Given the description of an element on the screen output the (x, y) to click on. 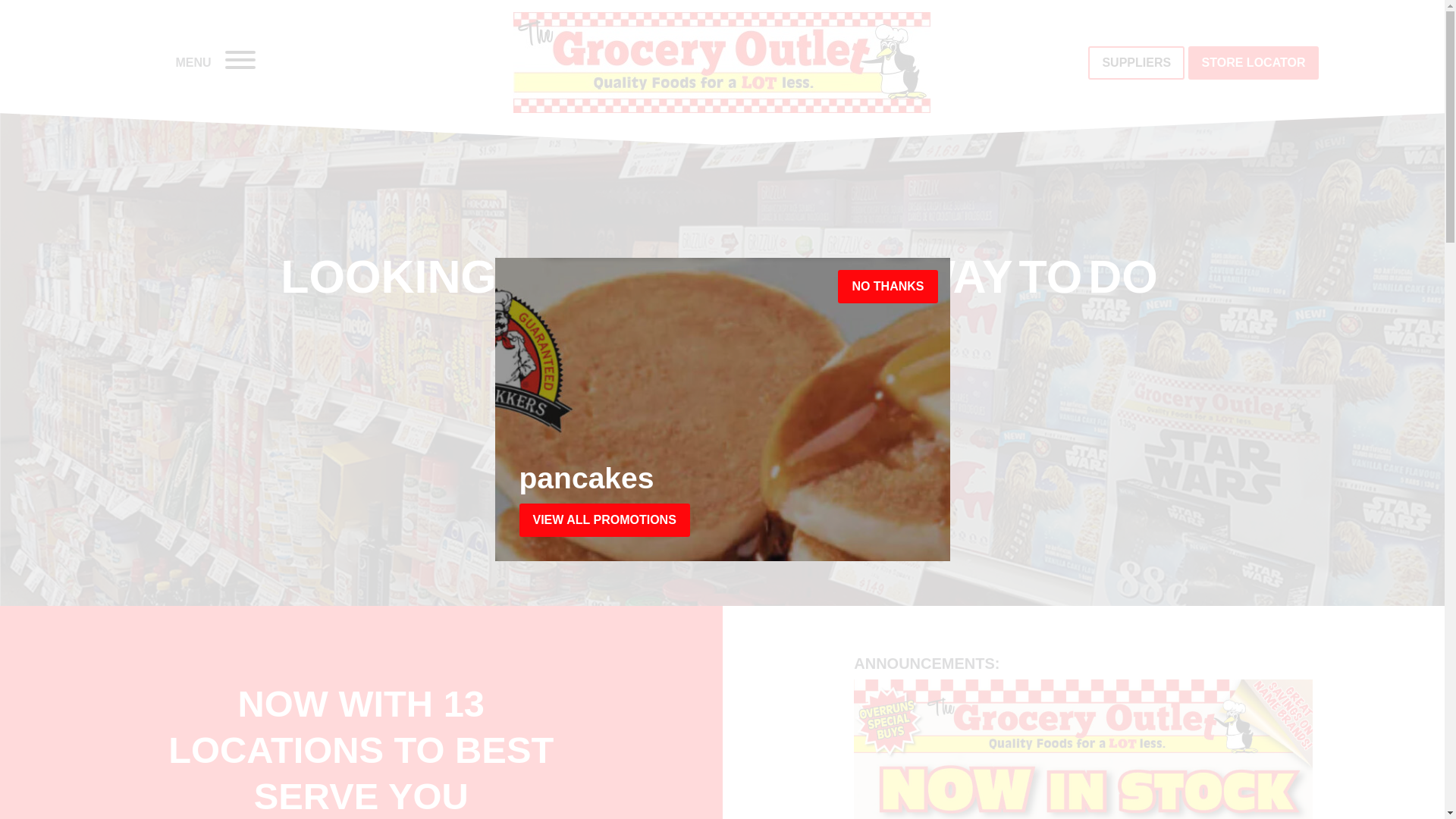
VIEW ALL PROMOTIONS Element type: text (603, 519)
NO THANKS Element type: text (887, 286)
CHECK OUT A STORE Element type: text (806, 435)
TELL ME MORE Element type: text (608, 435)
SUPPLIERS Element type: text (1136, 61)
STORE LOCATOR Element type: text (1253, 61)
